Given the description of an element on the screen output the (x, y) to click on. 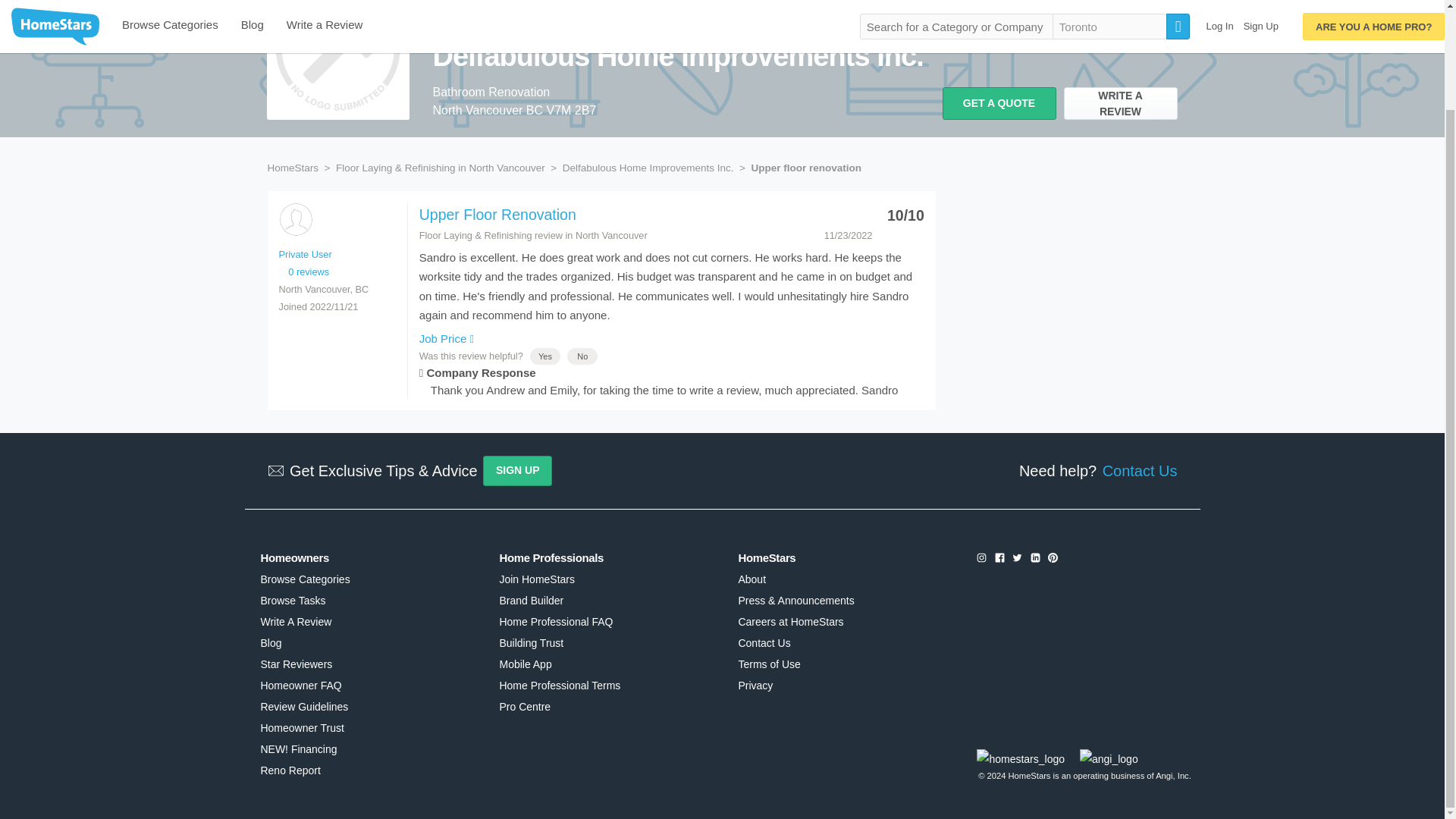
Join HomeStars (536, 579)
Browse Tasks (292, 600)
Review Guidelines (303, 706)
Write A Review (295, 621)
Mobile App (525, 664)
HomeStars (292, 167)
Private User (305, 254)
Private User (295, 219)
GET A QUOTE (998, 102)
Brand Builder (531, 600)
Home Professional FAQ (555, 621)
No (582, 356)
0 reviews (304, 271)
Yes (545, 356)
